Given the description of an element on the screen output the (x, y) to click on. 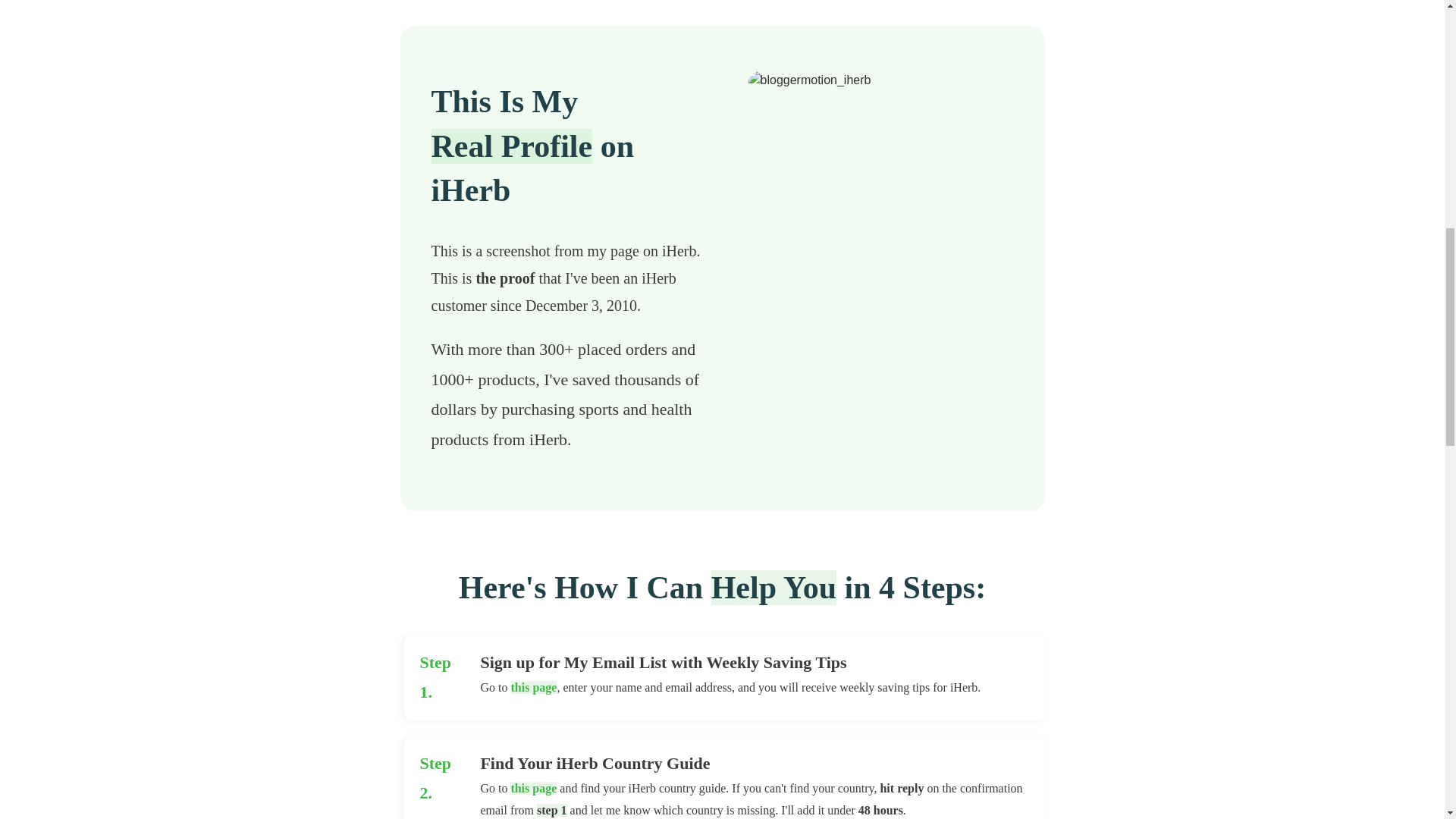
this page (534, 686)
this page (533, 788)
